Given the description of an element on the screen output the (x, y) to click on. 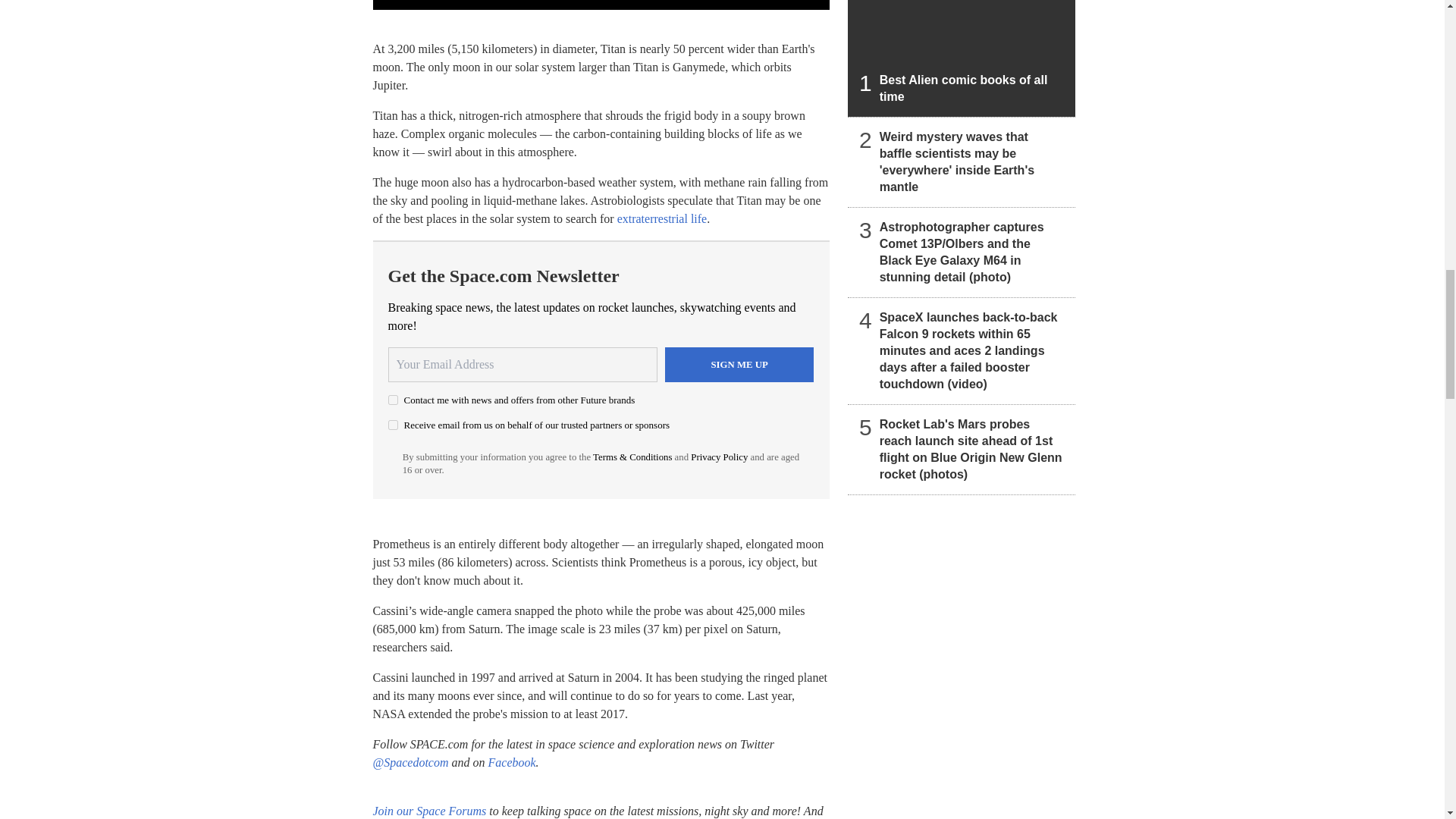
Sign me up (739, 364)
on (392, 424)
Best Alien comic books of all time (961, 58)
on (392, 399)
